Given the description of an element on the screen output the (x, y) to click on. 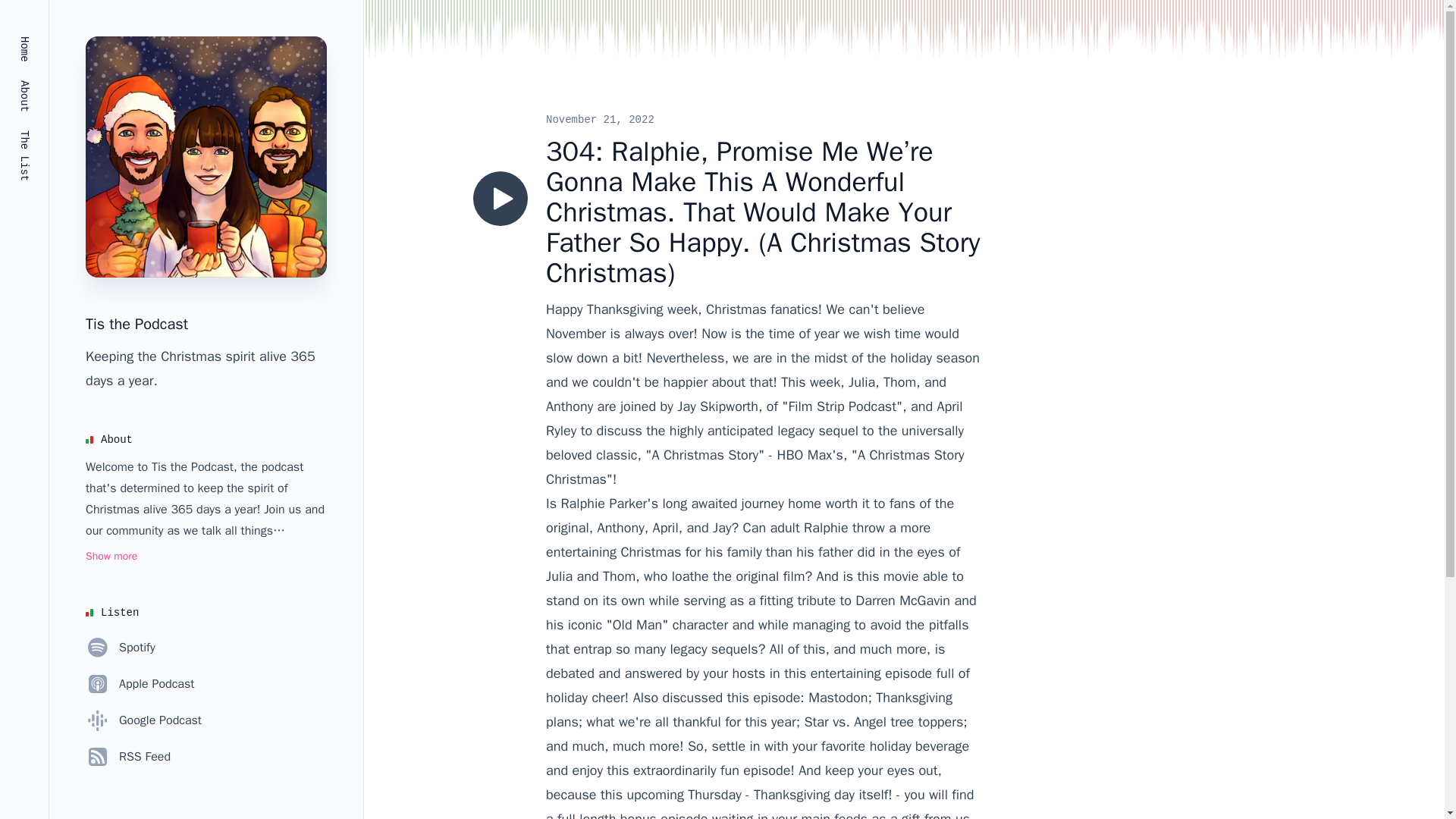
Spotify (120, 647)
RSS Feed (127, 756)
Apple Podcast (139, 683)
Show more (110, 556)
Tis the Podcast (136, 323)
Google Podcast (143, 720)
